Given the description of an element on the screen output the (x, y) to click on. 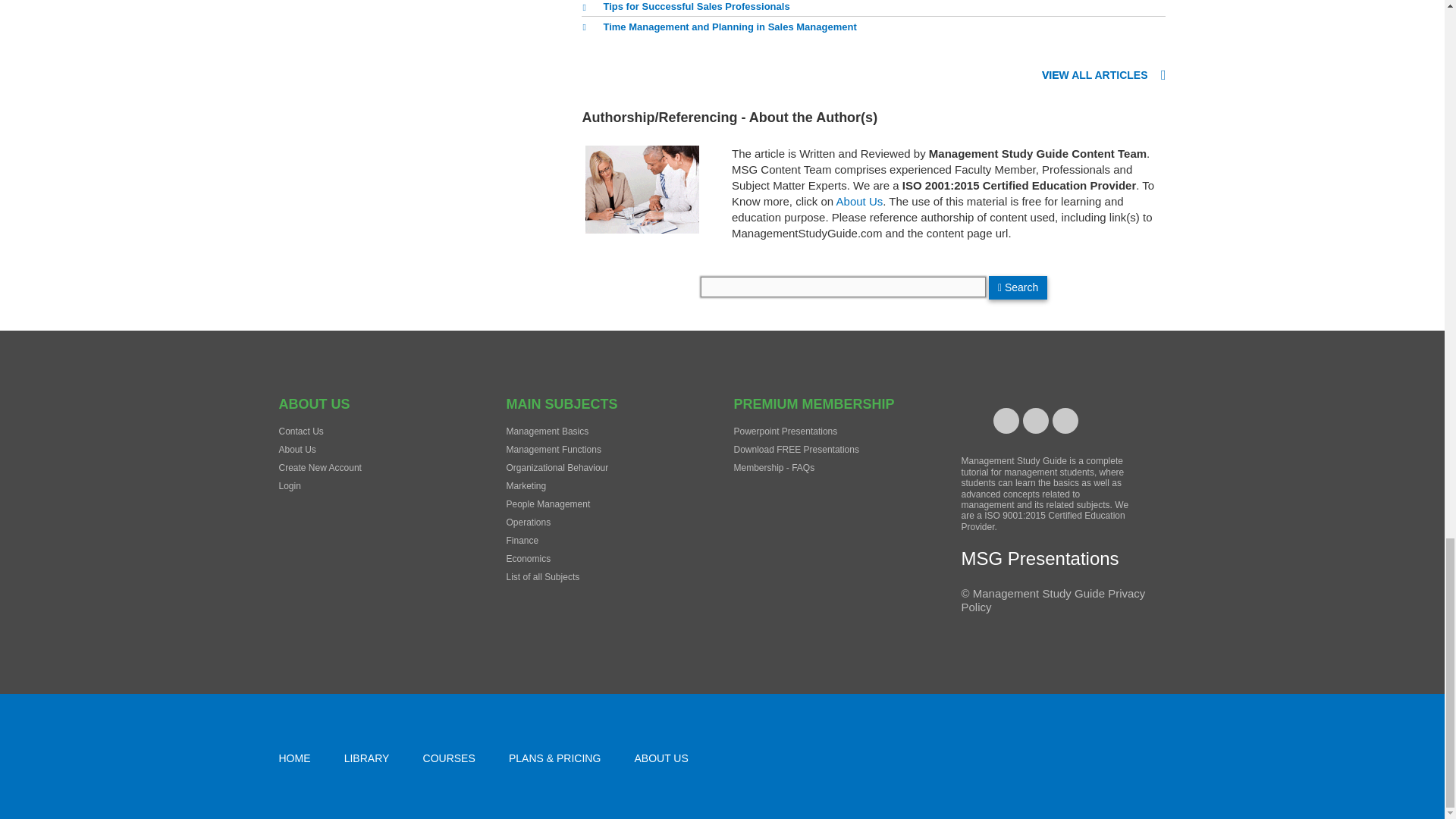
Tips for Successful Sales Professionals (684, 9)
VIEW ALL ARTICLES (1104, 75)
About Us (859, 201)
Time Management and Planning in Sales Management (718, 27)
